Given the description of an element on the screen output the (x, y) to click on. 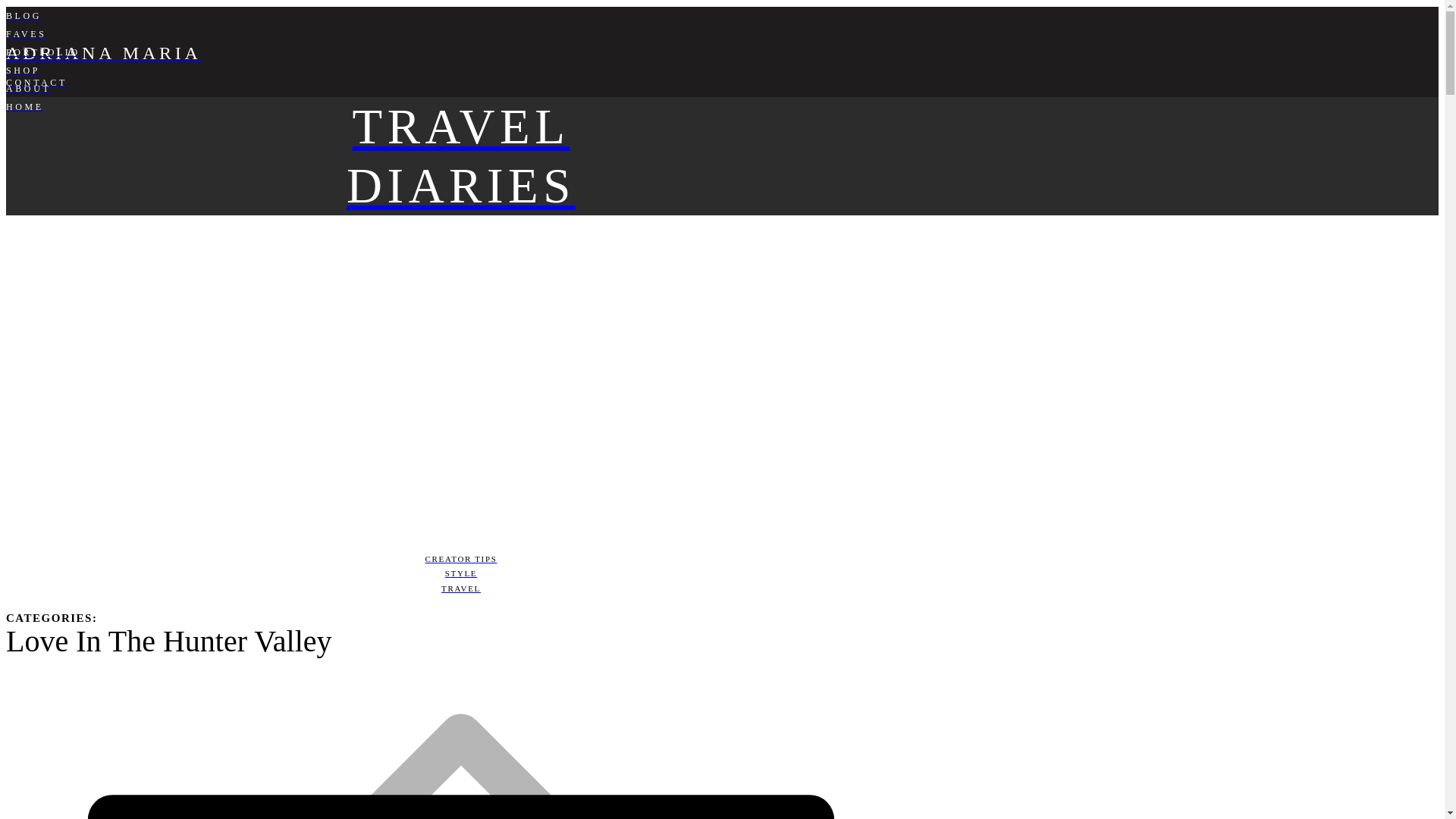
FAVES (460, 34)
PORTFOLIO (460, 52)
BLOG (460, 15)
SHOP (460, 70)
CREATOR TIPS (460, 559)
STYLE (460, 573)
HOME (460, 156)
ABOUT (460, 106)
TRAVEL (460, 88)
